Given the description of an element on the screen output the (x, y) to click on. 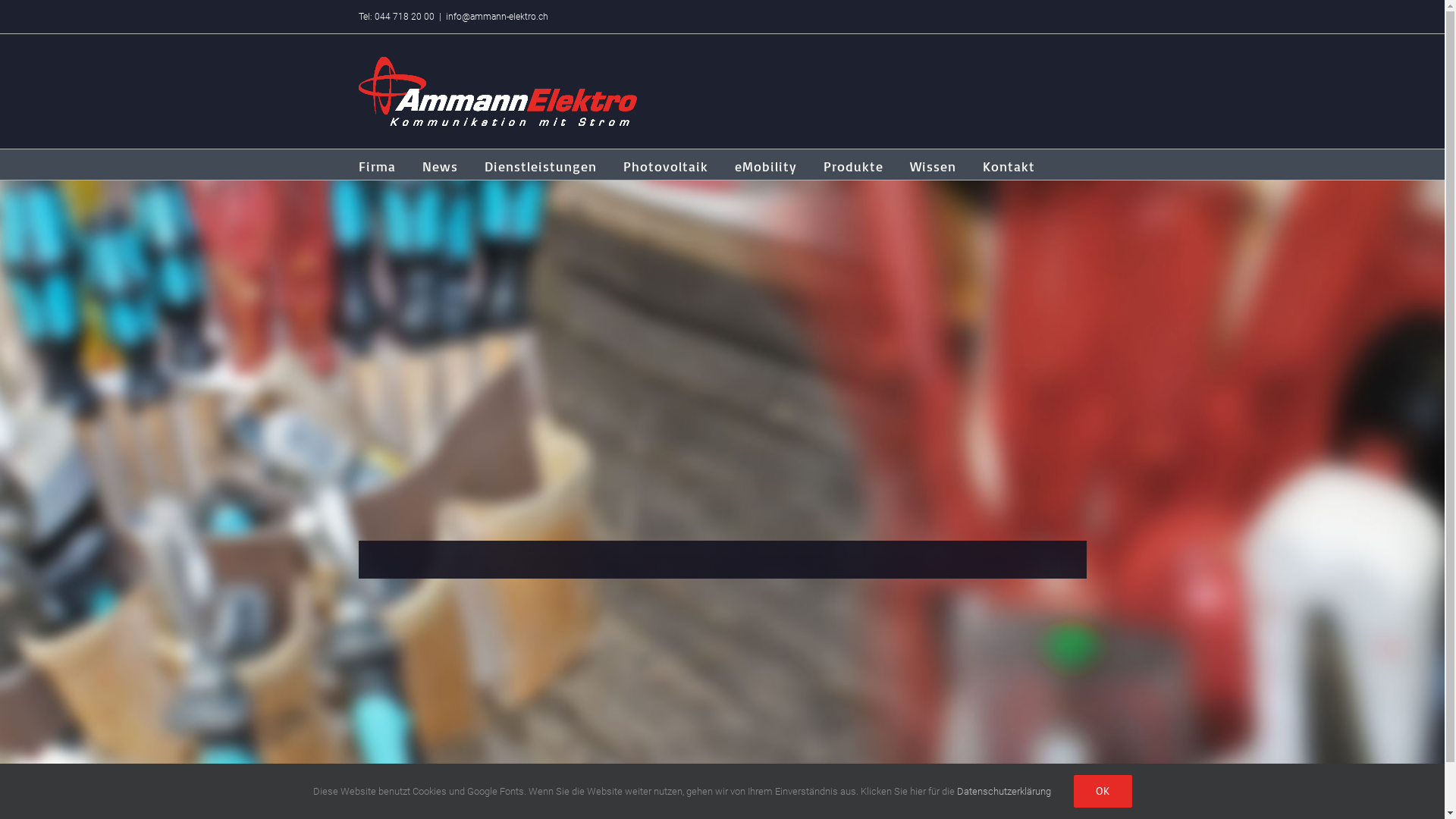
info@ammann-elektro.ch Element type: text (496, 16)
Wissen Element type: text (933, 164)
Photovoltaik Element type: text (665, 164)
Kontakt Element type: text (1008, 164)
Firma Element type: text (376, 164)
Dienstleistungen Element type: text (539, 164)
OK Element type: text (1102, 791)
Produkte Element type: text (853, 164)
eMobility Element type: text (765, 164)
News Element type: text (439, 164)
